Given the description of an element on the screen output the (x, y) to click on. 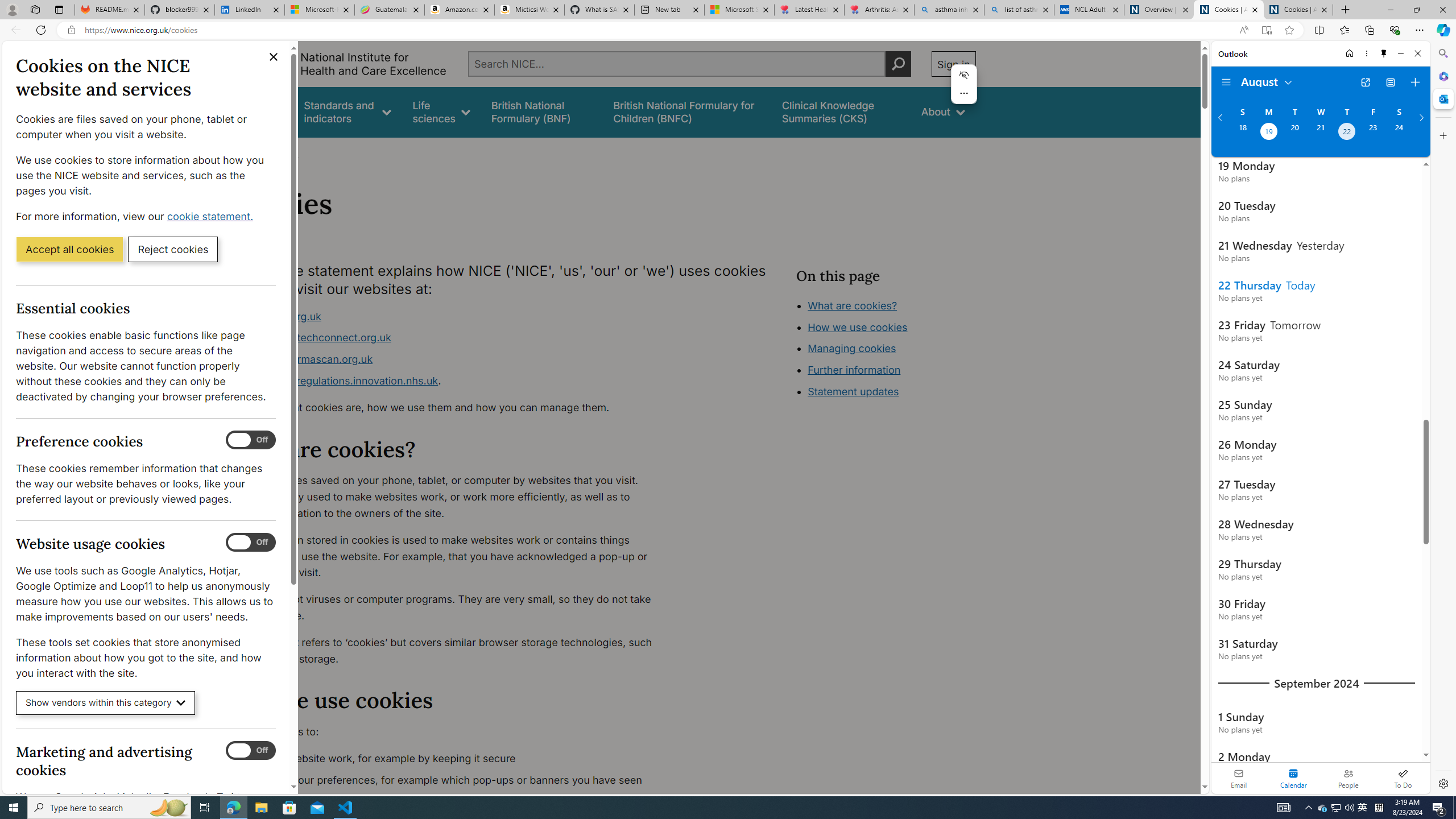
Show vendors within this category (105, 703)
View Switcher. Current view is Agenda view (1390, 82)
Open in new tab (1365, 82)
Cookies | About | NICE (1297, 9)
Website usage cookies (250, 542)
Class: in-page-nav__list (884, 349)
